Given the description of an element on the screen output the (x, y) to click on. 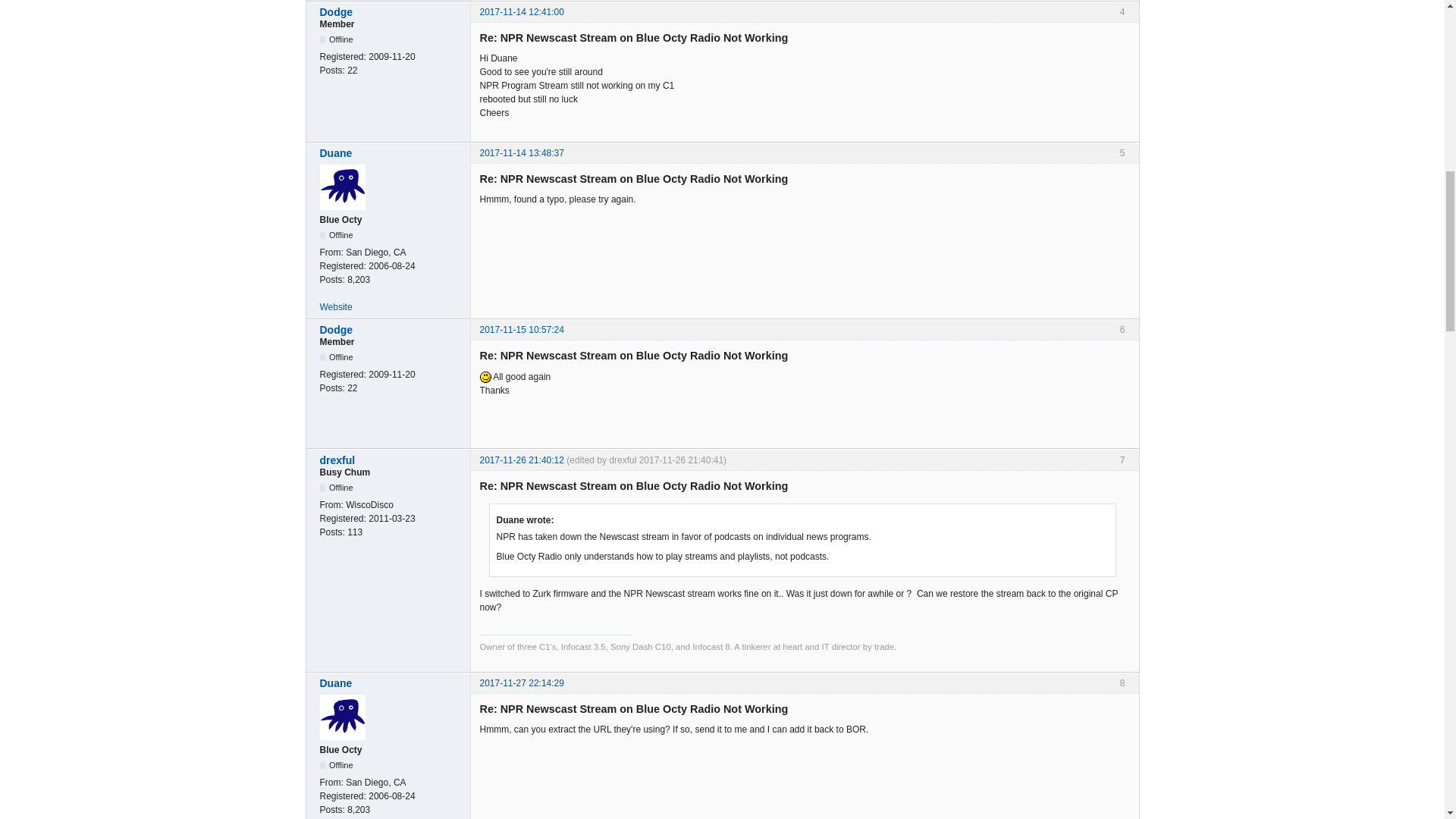
Permanent link to this post (521, 11)
Dodge (390, 11)
Go to Dodge's profile (390, 11)
2017-11-14 12:41:00 (521, 11)
